Given the description of an element on the screen output the (x, y) to click on. 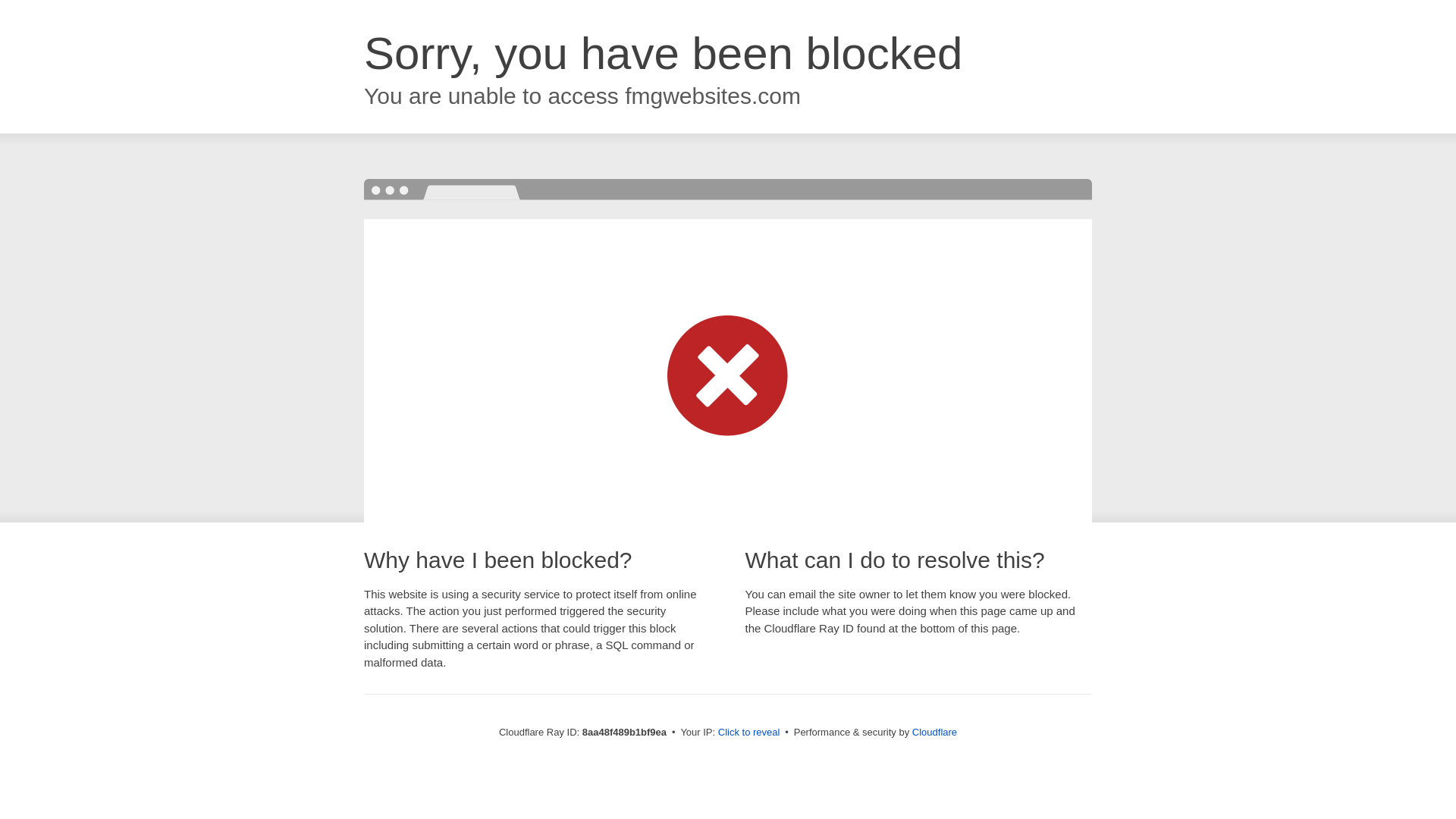
Click to reveal (748, 732)
Cloudflare (934, 731)
